Given the description of an element on the screen output the (x, y) to click on. 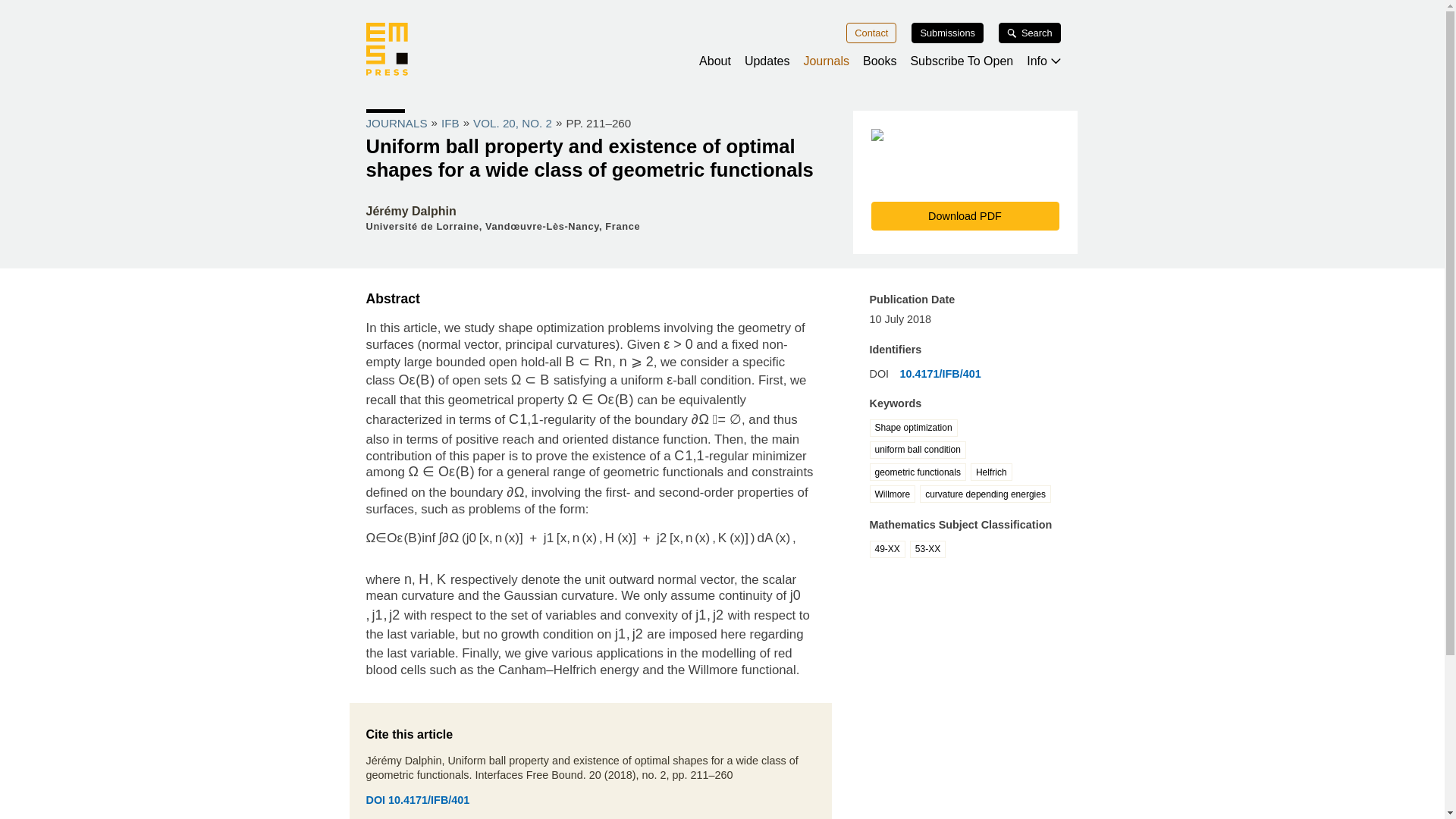
VOL. 20, NO. 2 (512, 123)
About (714, 60)
JOURNALS (395, 123)
Info (1042, 60)
Contact (870, 32)
Download PDF (964, 215)
Search (1029, 32)
Updates (767, 60)
Main Navigation (721, 47)
Submissions (947, 32)
